Given the description of an element on the screen output the (x, y) to click on. 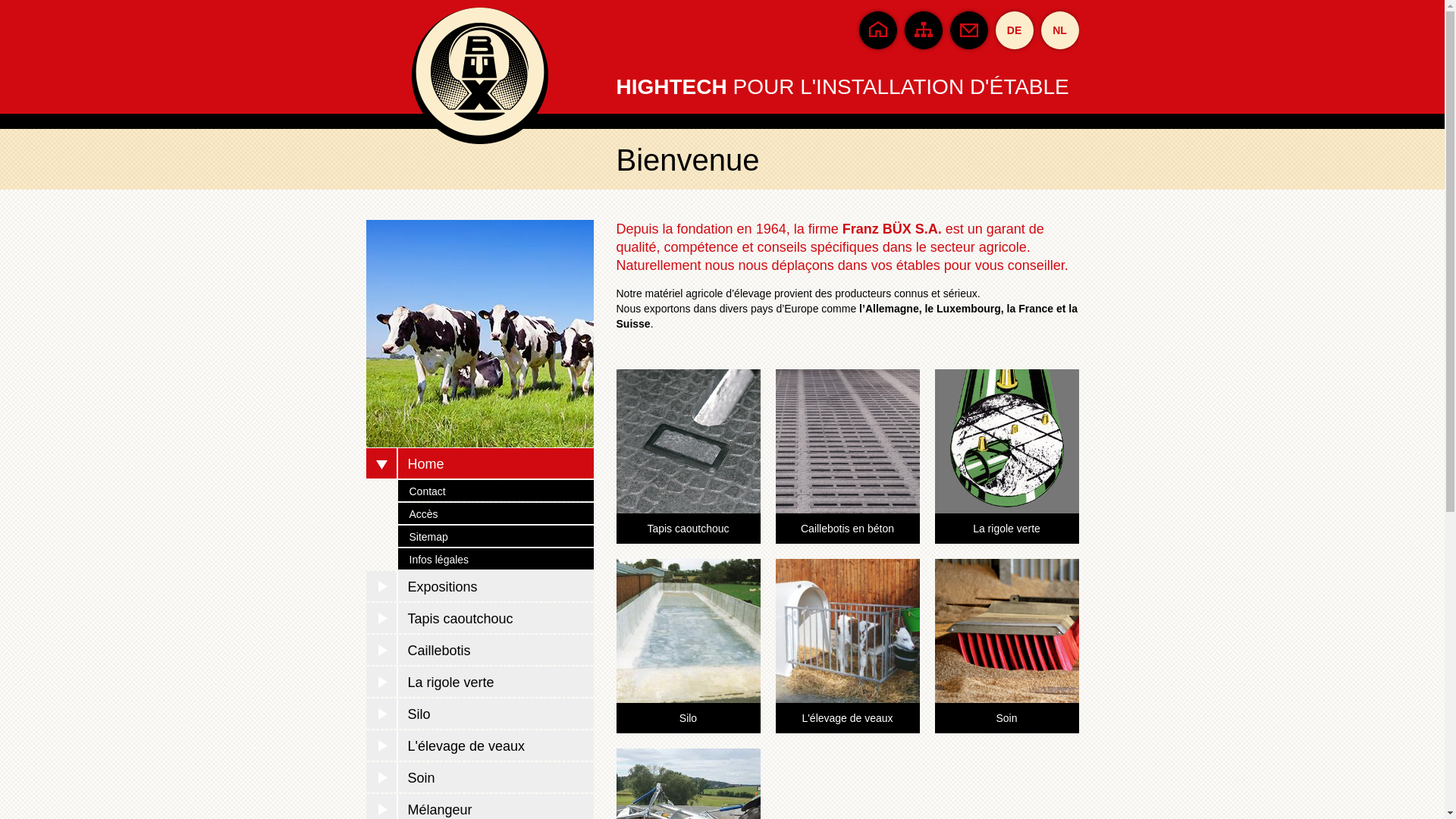
Contact Element type: text (495, 490)
La rigole verte Element type: text (479, 681)
Silo Element type: text (687, 717)
La rigole verte Element type: text (1006, 528)
Soin Element type: text (1006, 717)
DE Element type: text (1013, 30)
Caillebotis Element type: text (479, 649)
Tapis caoutchouc Element type: text (479, 617)
Home Element type: text (479, 463)
Tapis caoutchouc Element type: text (687, 528)
Expositions Element type: text (479, 586)
Sitemap Element type: text (495, 535)
Gummimatten Element type: hover (687, 505)
Soin Element type: text (479, 777)
Silo Element type: text (479, 713)
NL Element type: text (1059, 30)
